Given the description of an element on the screen output the (x, y) to click on. 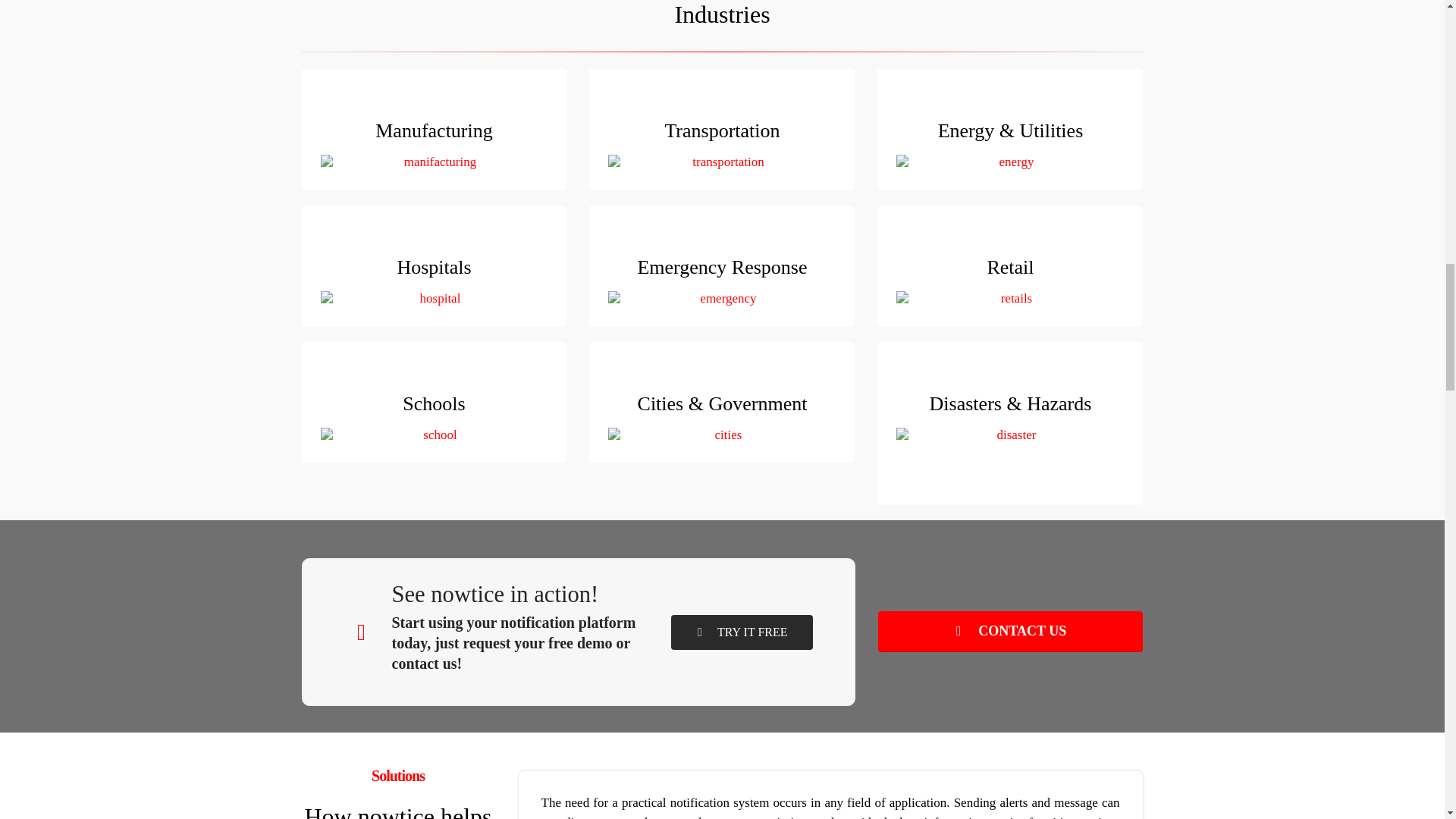
Transportation (721, 129)
Hospitals (434, 265)
Manufacturing (434, 129)
Emergency Response (721, 265)
